Given the description of an element on the screen output the (x, y) to click on. 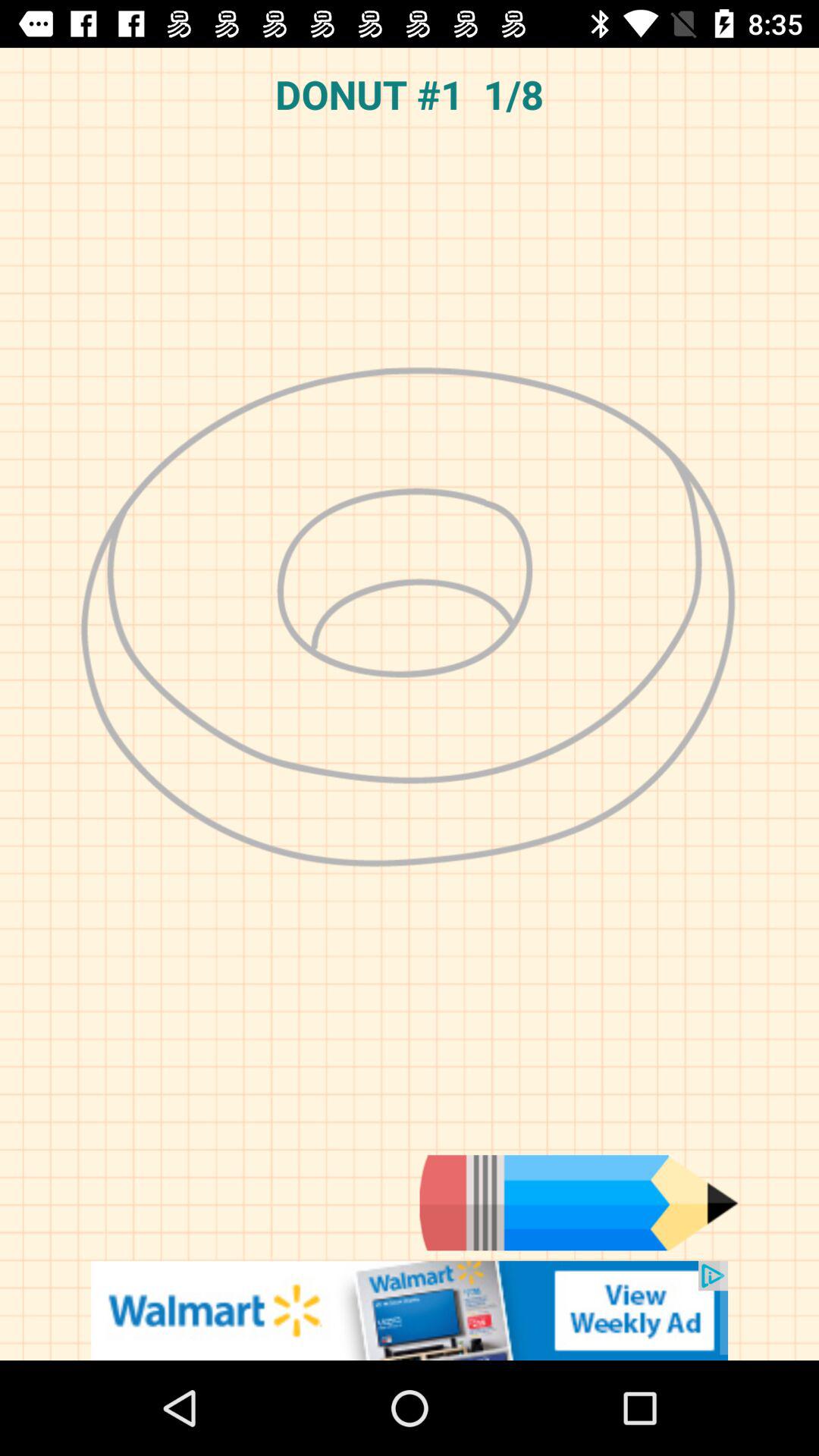
open advertisement (409, 1310)
